Given the description of an element on the screen output the (x, y) to click on. 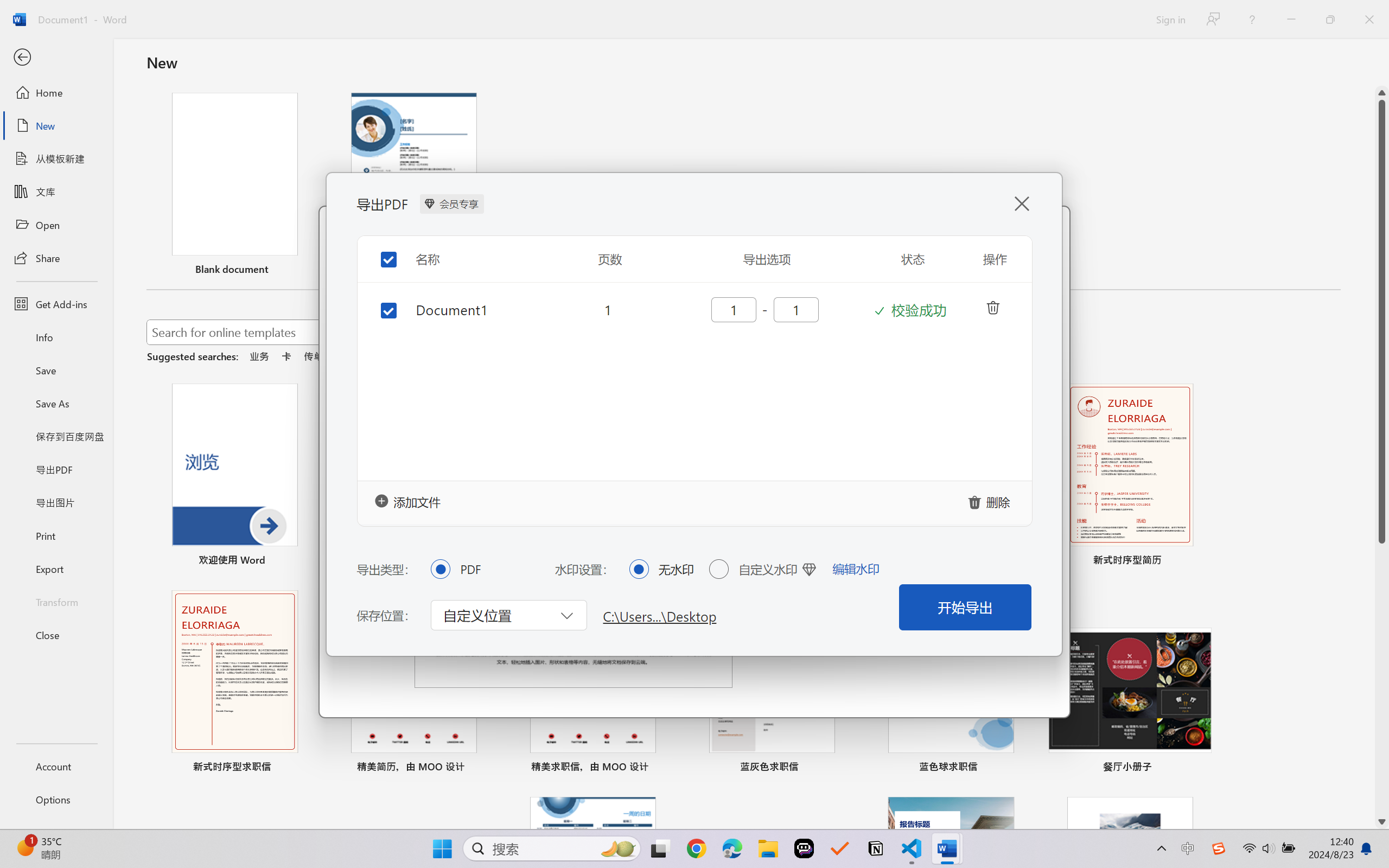
Back (56, 57)
Toggle selection for all items (380, 255)
Transform (56, 601)
Account (56, 765)
Blank document (234, 185)
clearAllFile (990, 501)
